Given the description of an element on the screen output the (x, y) to click on. 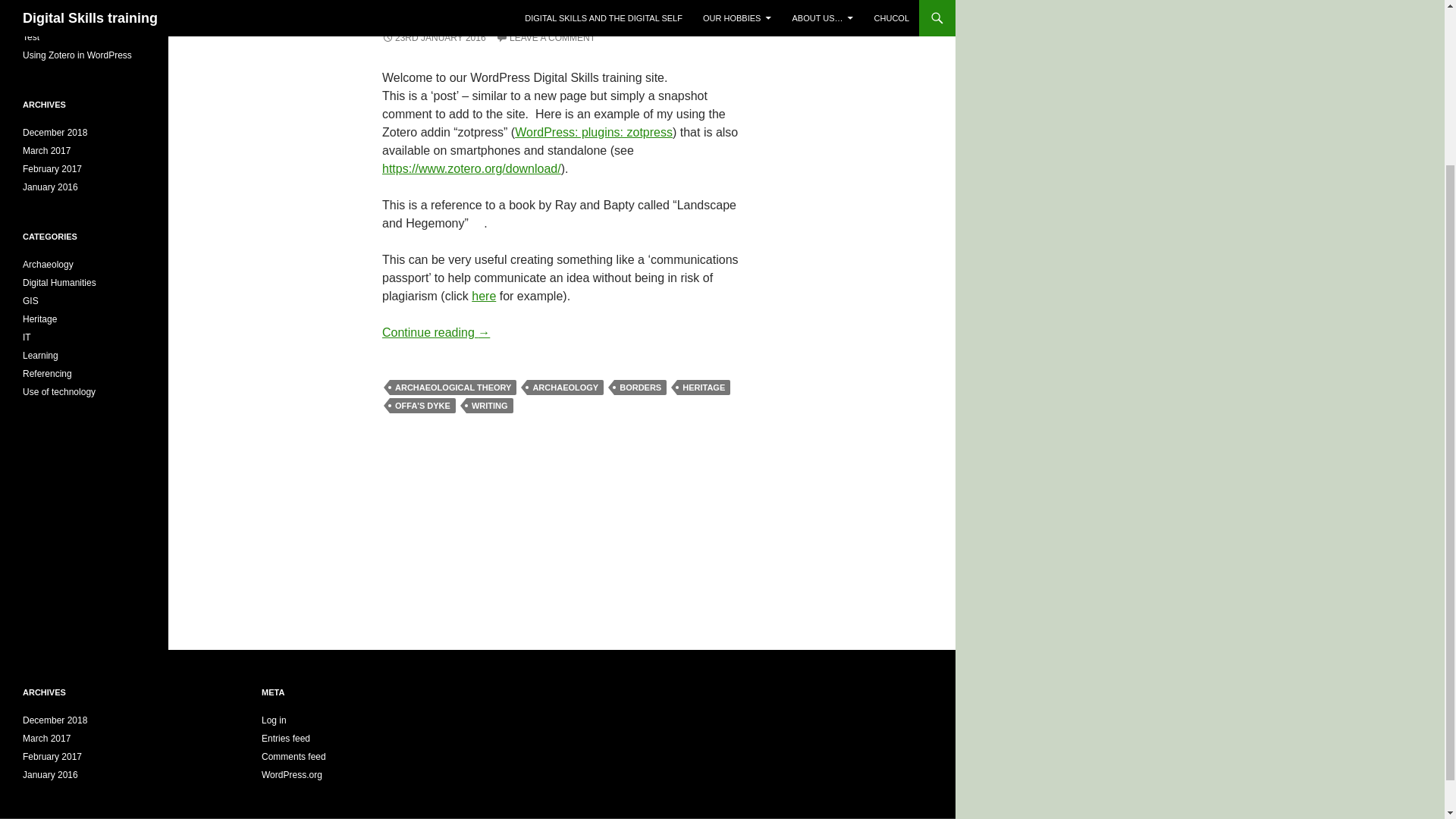
here (483, 295)
USING ZOTERO IN WORDPRESS (492, 11)
ARCHAEOLOGICAL THEORY (453, 387)
23RD JANUARY 2016 (433, 37)
WordPress: plugins: zotpress (593, 132)
HERITAGE (703, 387)
ARCHAEOLOGY (565, 387)
BORDERS (640, 387)
OFFA'S DYKE (422, 405)
LEAVE A COMMENT (545, 37)
